Given the description of an element on the screen output the (x, y) to click on. 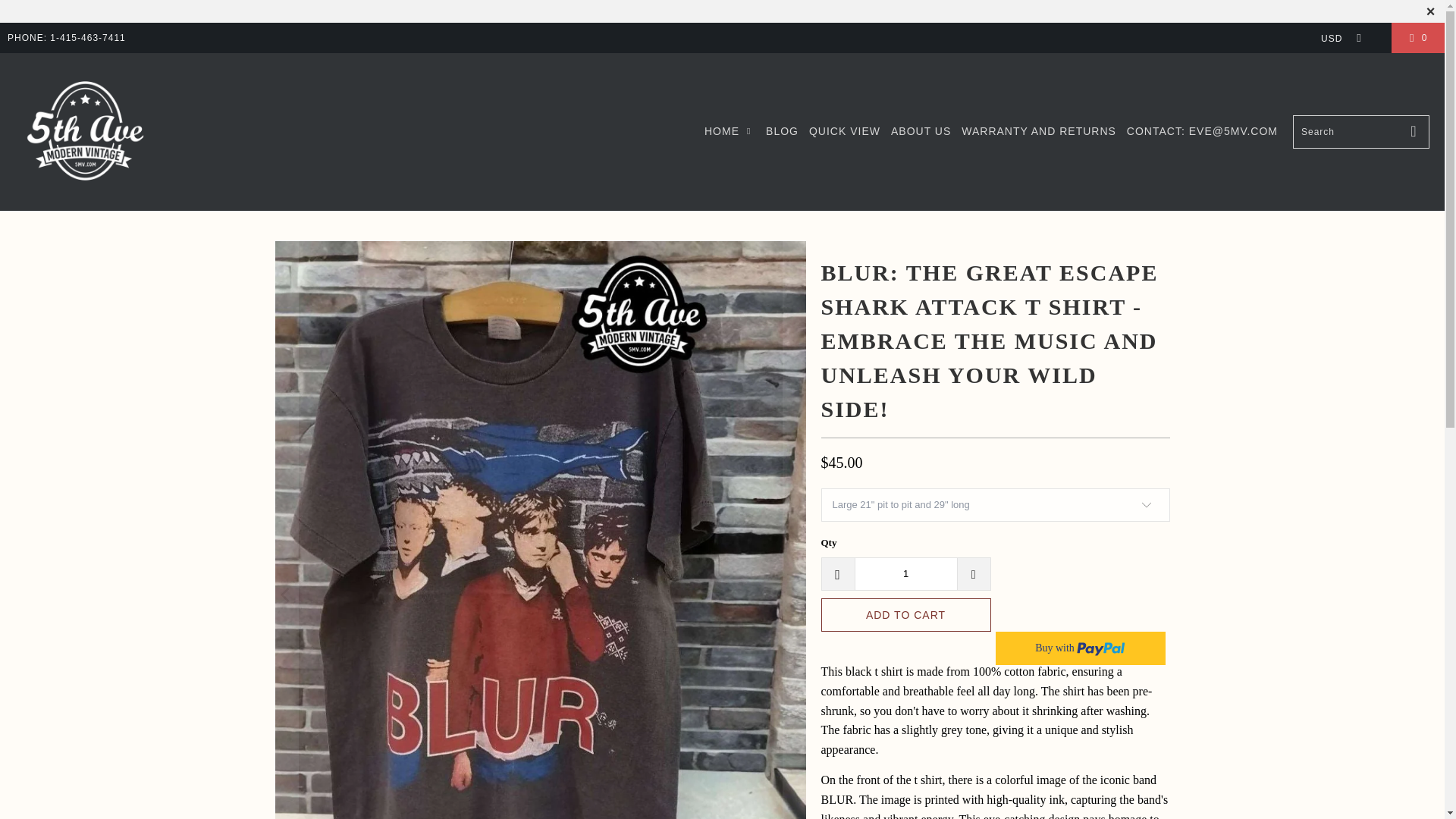
1 (904, 573)
USD (1336, 37)
PHONE: 1-415-463-7411 (66, 37)
Vintage Band Shirts (84, 131)
